Given the description of an element on the screen output the (x, y) to click on. 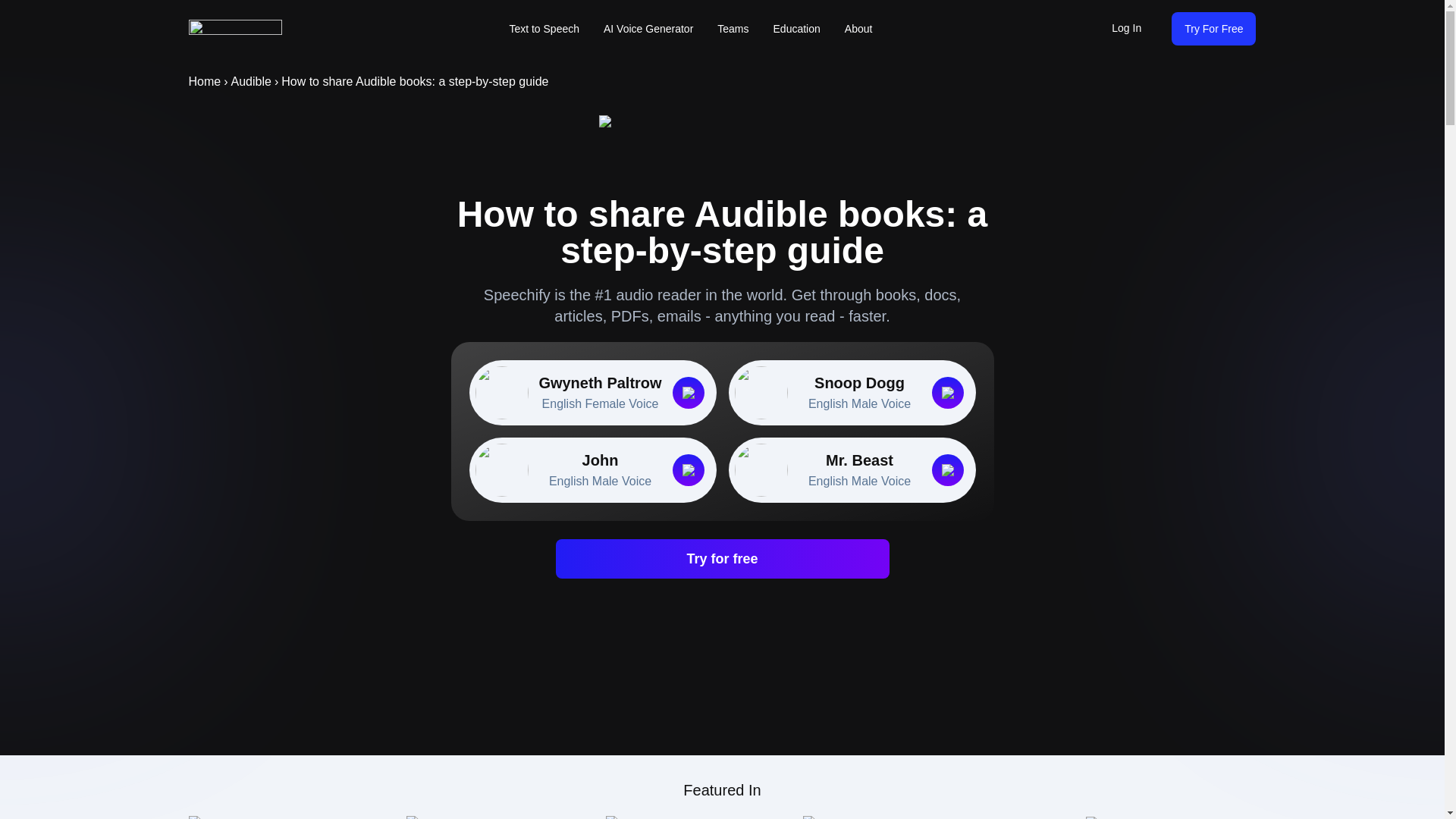
Try for free (721, 558)
Teams (732, 28)
Log In (592, 469)
About (1126, 28)
Text to Speech (858, 28)
AI Voice Generator (543, 28)
Home (647, 28)
